Given the description of an element on the screen output the (x, y) to click on. 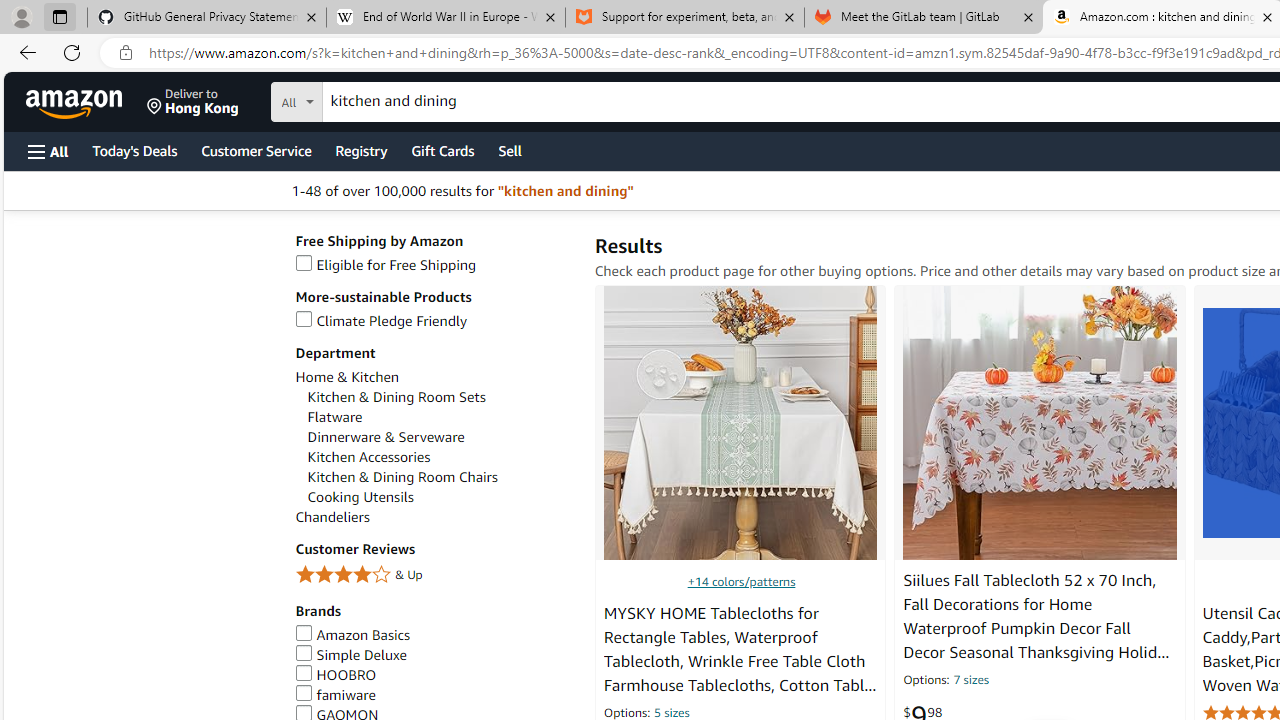
Meet the GitLab team | GitLab (924, 17)
GitHub General Privacy Statement - GitHub Docs (207, 17)
Home & Kitchen (434, 376)
Search in (371, 99)
Cooking Utensils (440, 497)
Amazon (76, 101)
Eligible for Free Shipping (434, 265)
Deliver to Hong Kong (193, 101)
Skip to main content (86, 100)
Amazon Basics (352, 634)
Registry (360, 150)
Flatware (440, 417)
